Given the description of an element on the screen output the (x, y) to click on. 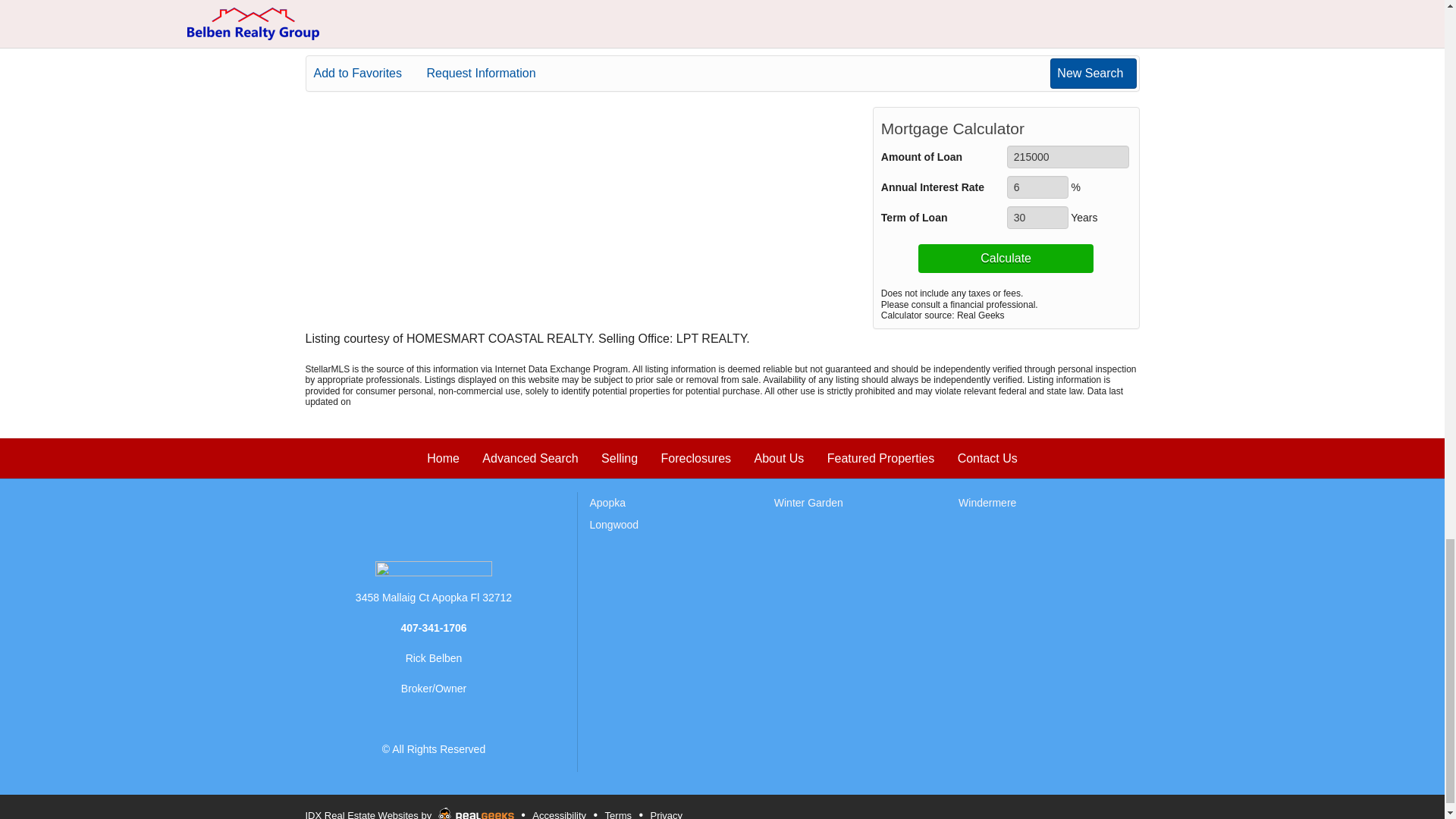
6 (1037, 187)
215000 (1068, 156)
30 (1037, 217)
